Given the description of an element on the screen output the (x, y) to click on. 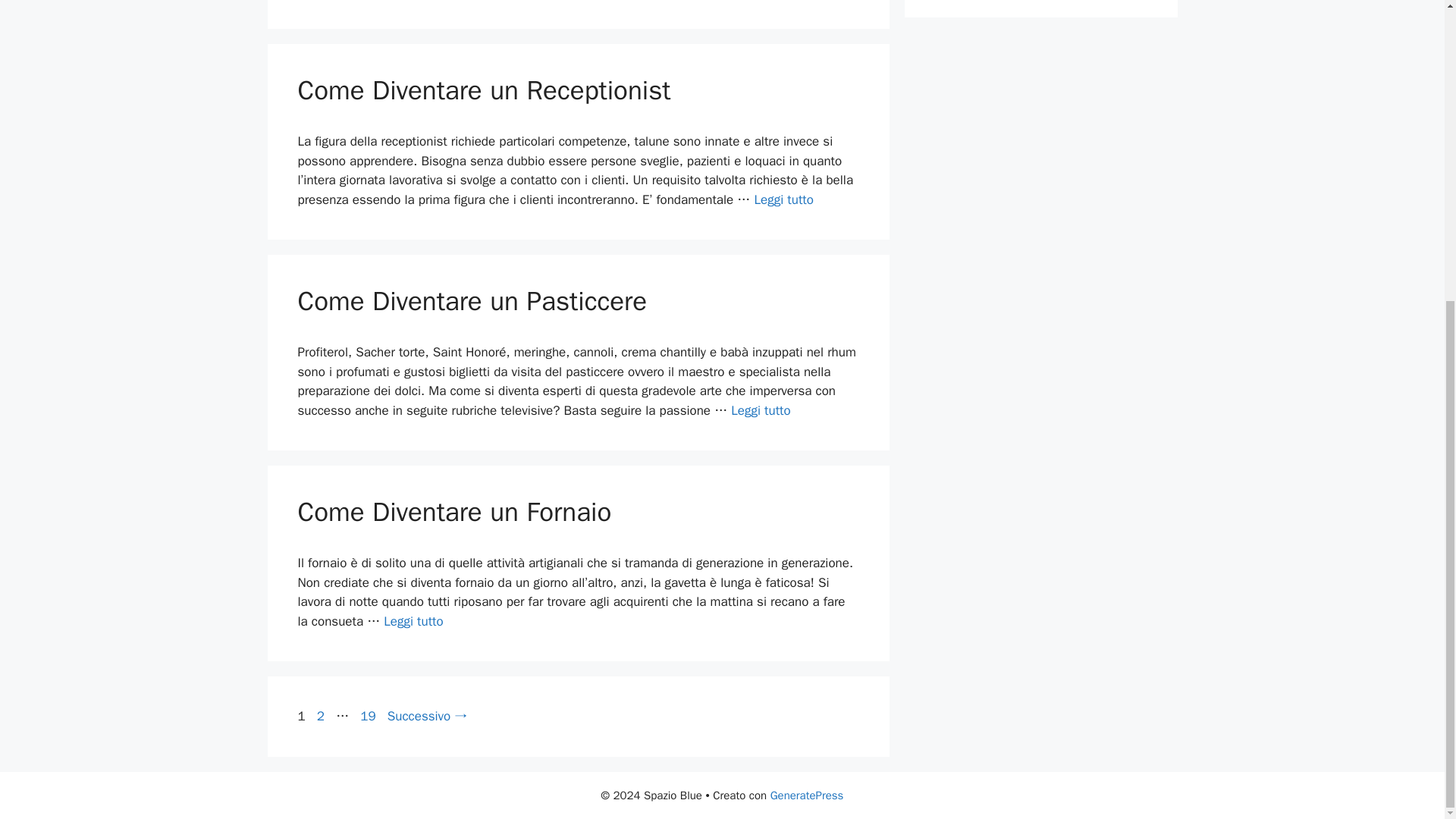
Come Diventare un Fornaio (413, 620)
Come Diventare un Receptionist (483, 90)
Come Diventare un Pasticcere (471, 300)
GeneratePress (807, 795)
Come Diventare un Pasticcere (367, 715)
Leggi tutto (760, 409)
Come Diventare un Receptionist (321, 715)
Leggi tutto (413, 620)
